Given the description of an element on the screen output the (x, y) to click on. 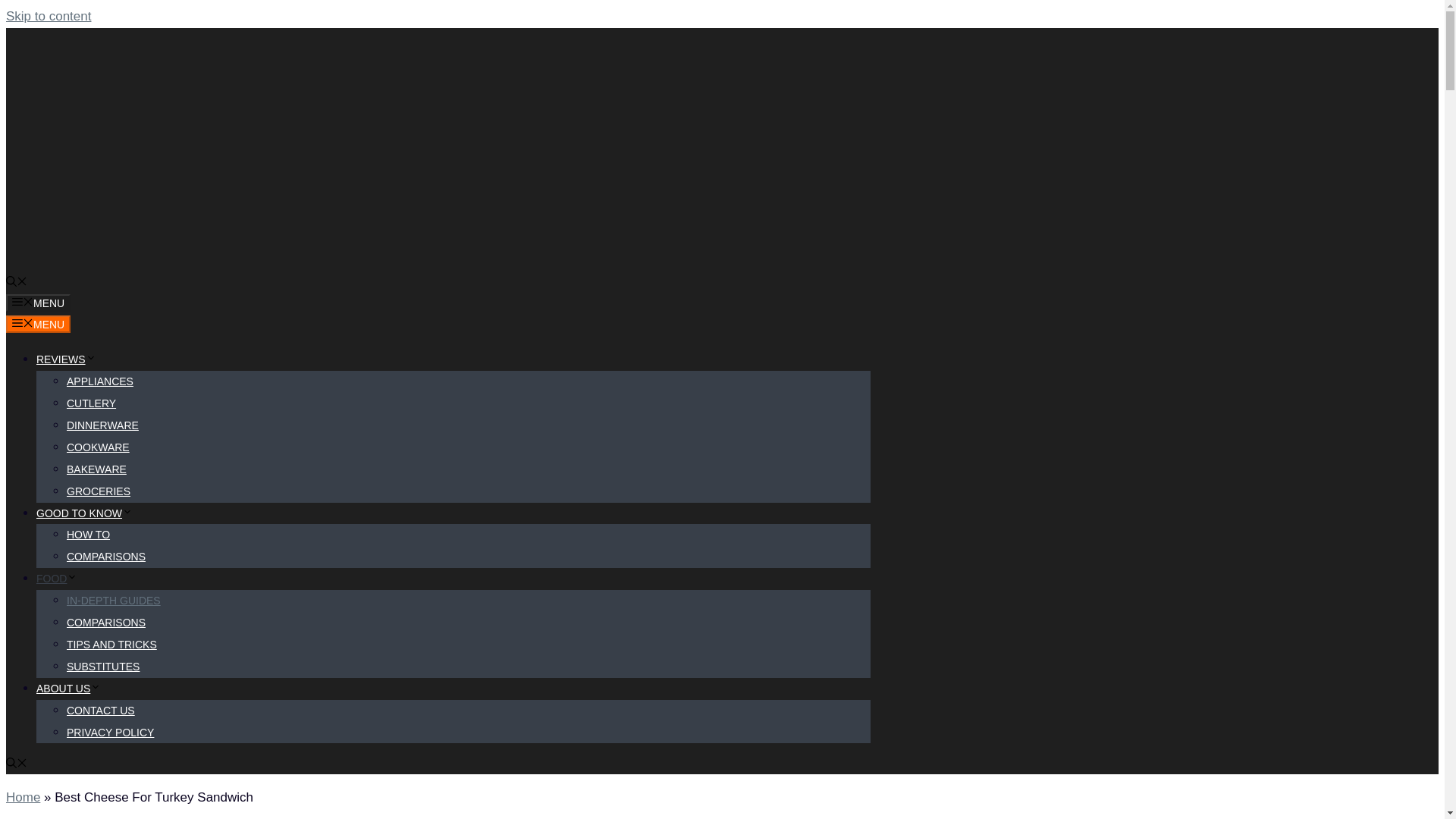
MENU (37, 323)
BAKEWARE (96, 469)
PRIVACY POLICY (110, 732)
SUBSTITUTES (102, 666)
FOOD (56, 578)
GROCERIES (98, 491)
IN-DEPTH GUIDES (113, 600)
COMPARISONS (105, 622)
CUTLERY (91, 403)
HOW TO (88, 534)
